Given the description of an element on the screen output the (x, y) to click on. 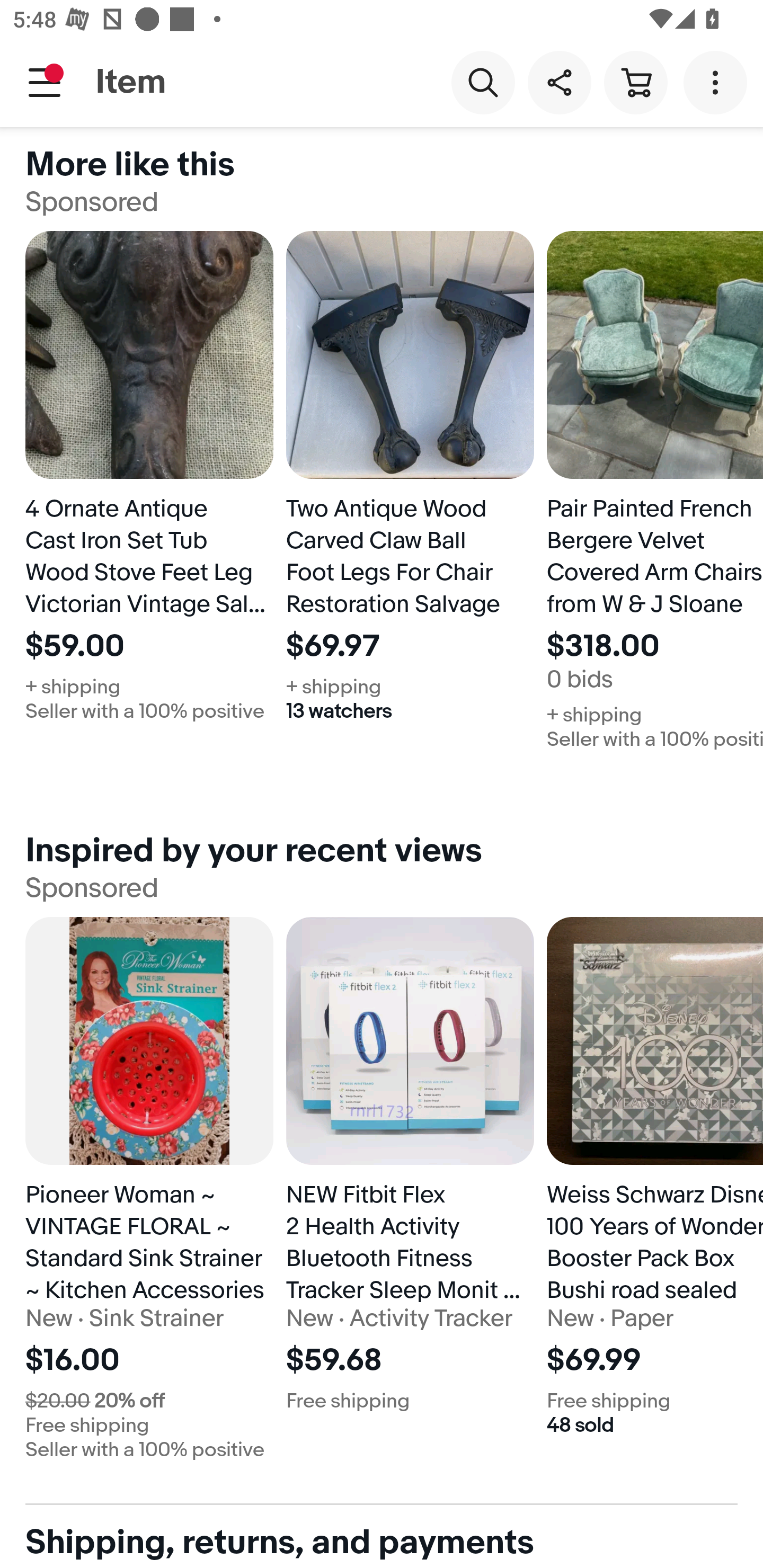
Main navigation, notification is pending, open (44, 82)
Search (482, 81)
Share this item (559, 81)
Cart button shopping cart (635, 81)
More options (718, 81)
